Given the description of an element on the screen output the (x, y) to click on. 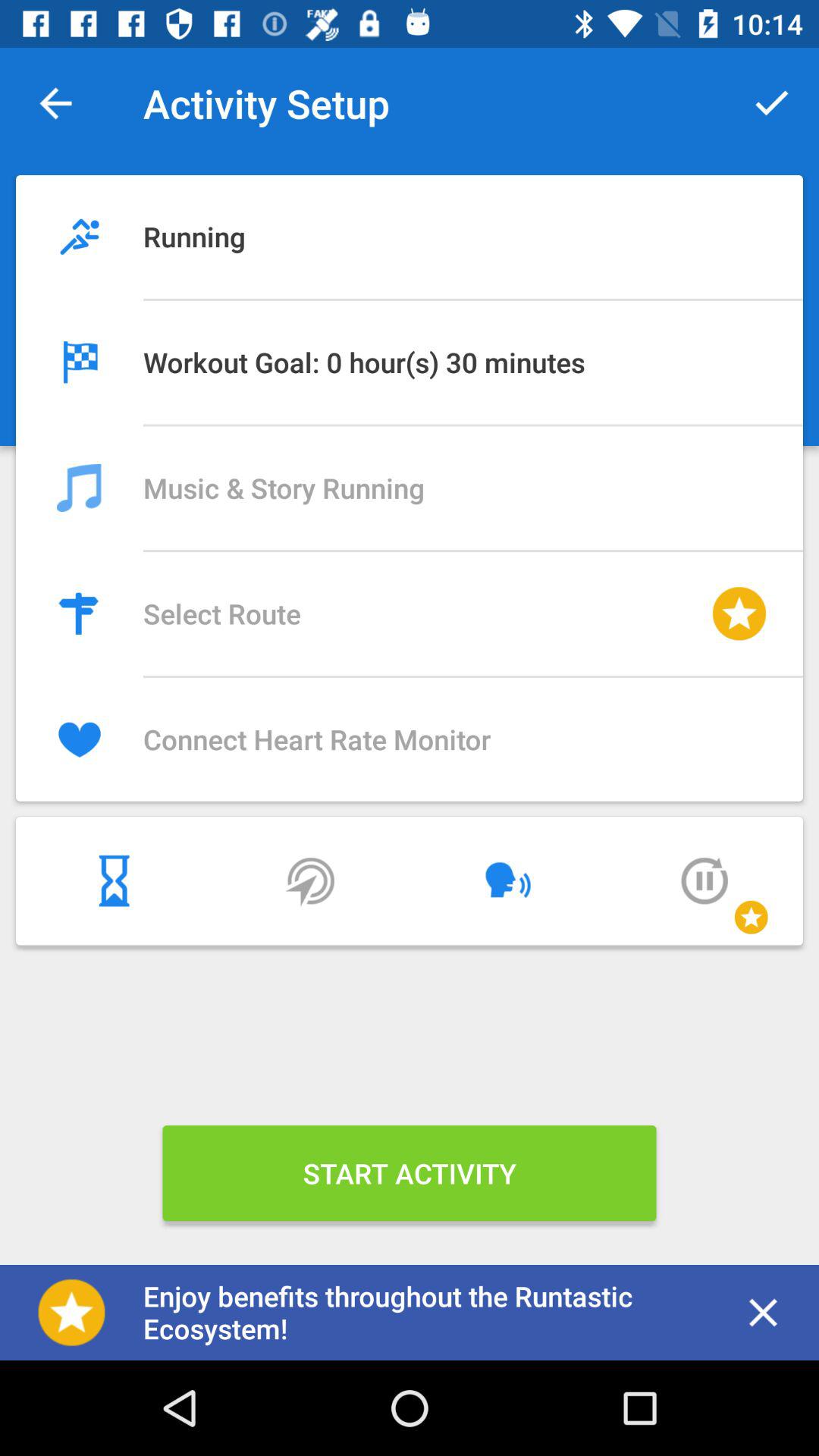
select the item next to activity setup (55, 103)
